Given the description of an element on the screen output the (x, y) to click on. 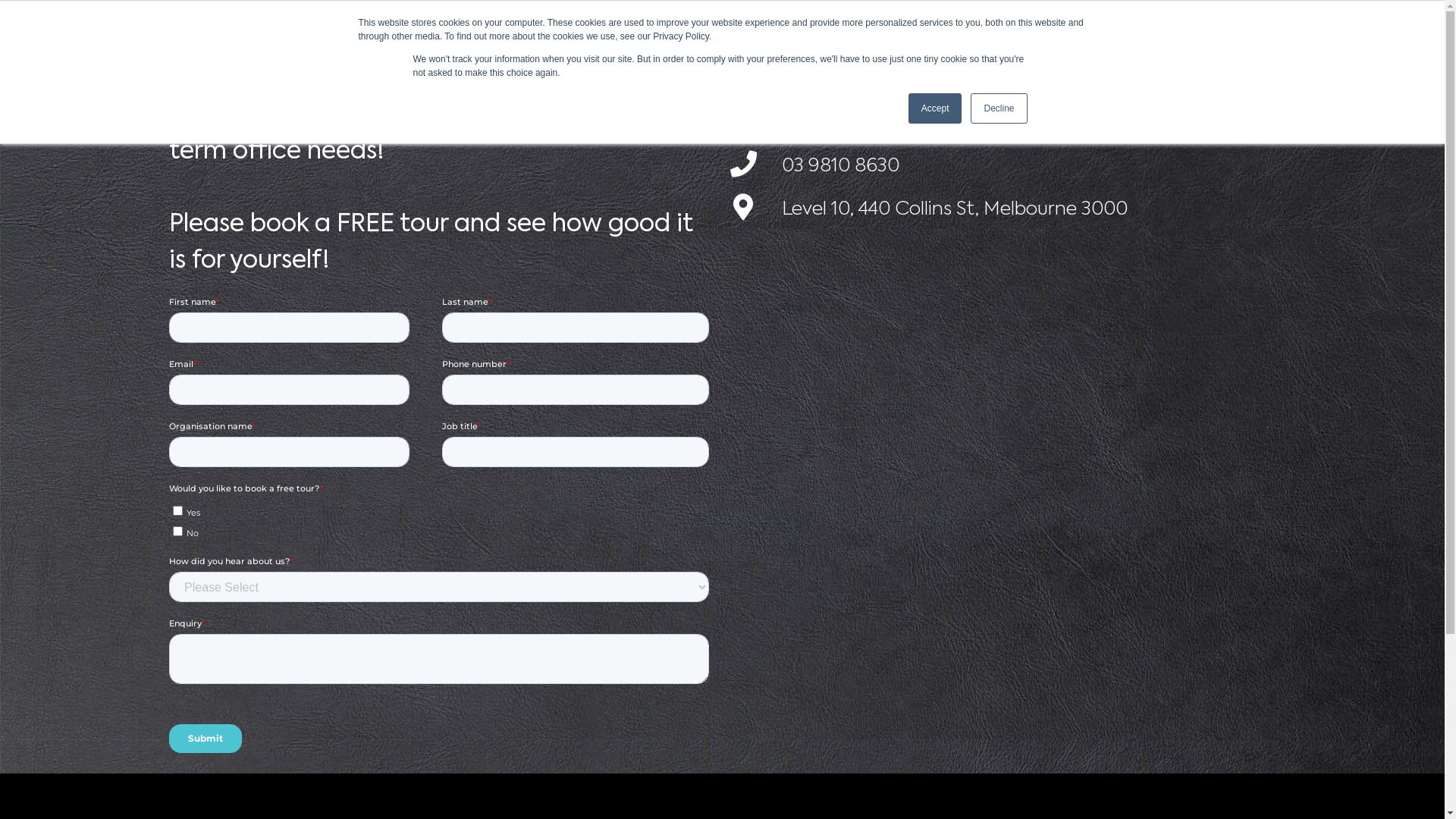
Form 0 Element type: hover (442, 529)
BOOK MEETING ROOM Element type: text (906, 32)
Accept Element type: text (935, 108)
OUR SPACE Element type: text (632, 32)
VIRTUAL OFFICE Element type: text (749, 32)
ENQUIRE NOW! Element type: text (1199, 32)
HOME Element type: text (545, 32)
PRIVATE OFFICES Element type: text (1065, 32)
Decline Element type: text (998, 108)
